Given the description of an element on the screen output the (x, y) to click on. 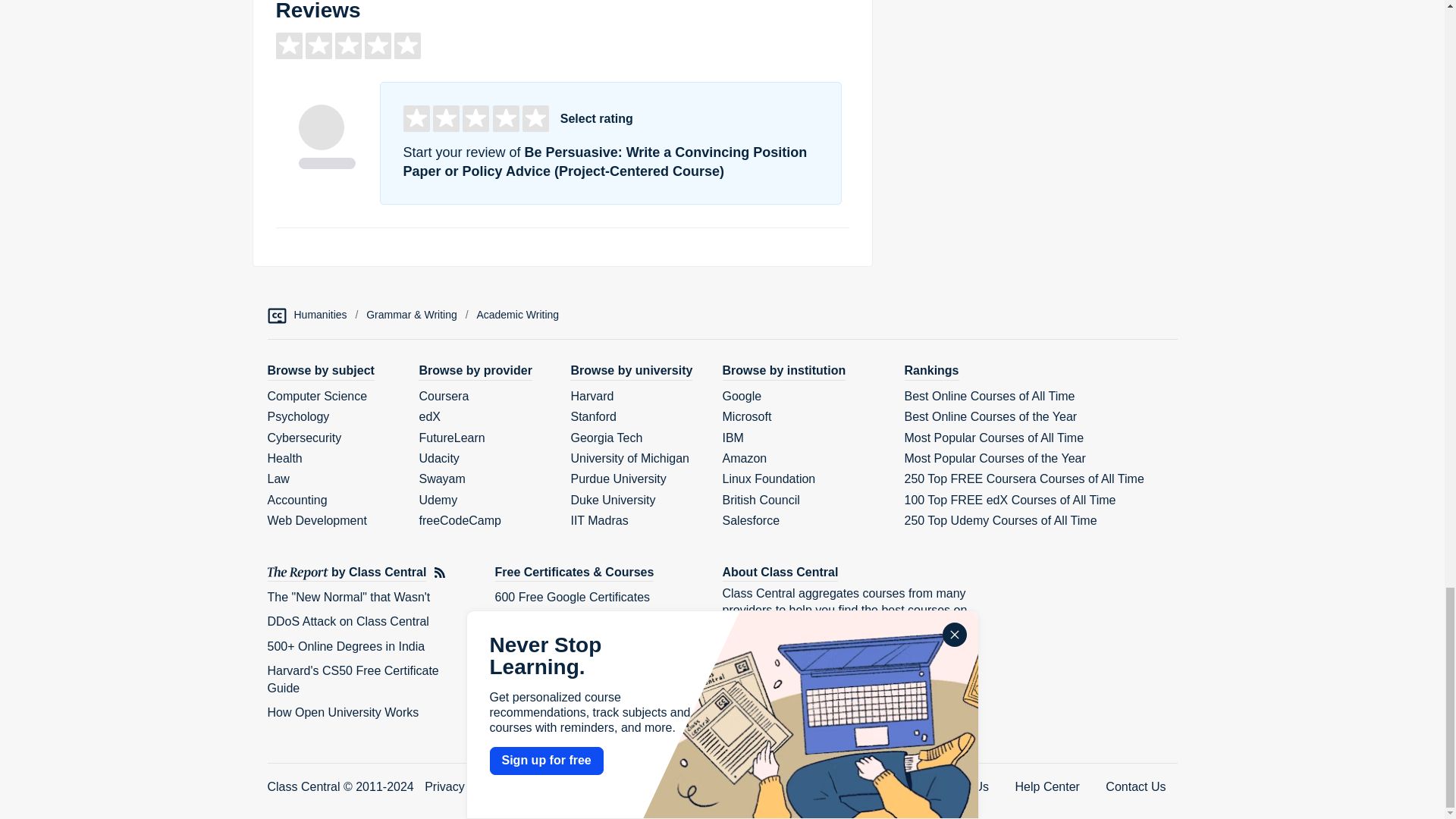
1700 Free Coursera Courses (572, 645)
DDoS Attack on Class Central (347, 621)
The "New Normal" that Wasn't (347, 596)
Ivy League Online Courses (567, 670)
Harvard's CS50 Free Certificate Guide (352, 678)
Free Courses and Certificates (574, 572)
9000 Free Courses from Tech Giants (594, 621)
How Open University Works (342, 712)
600 Free Google Certificates (572, 596)
